Given the description of an element on the screen output the (x, y) to click on. 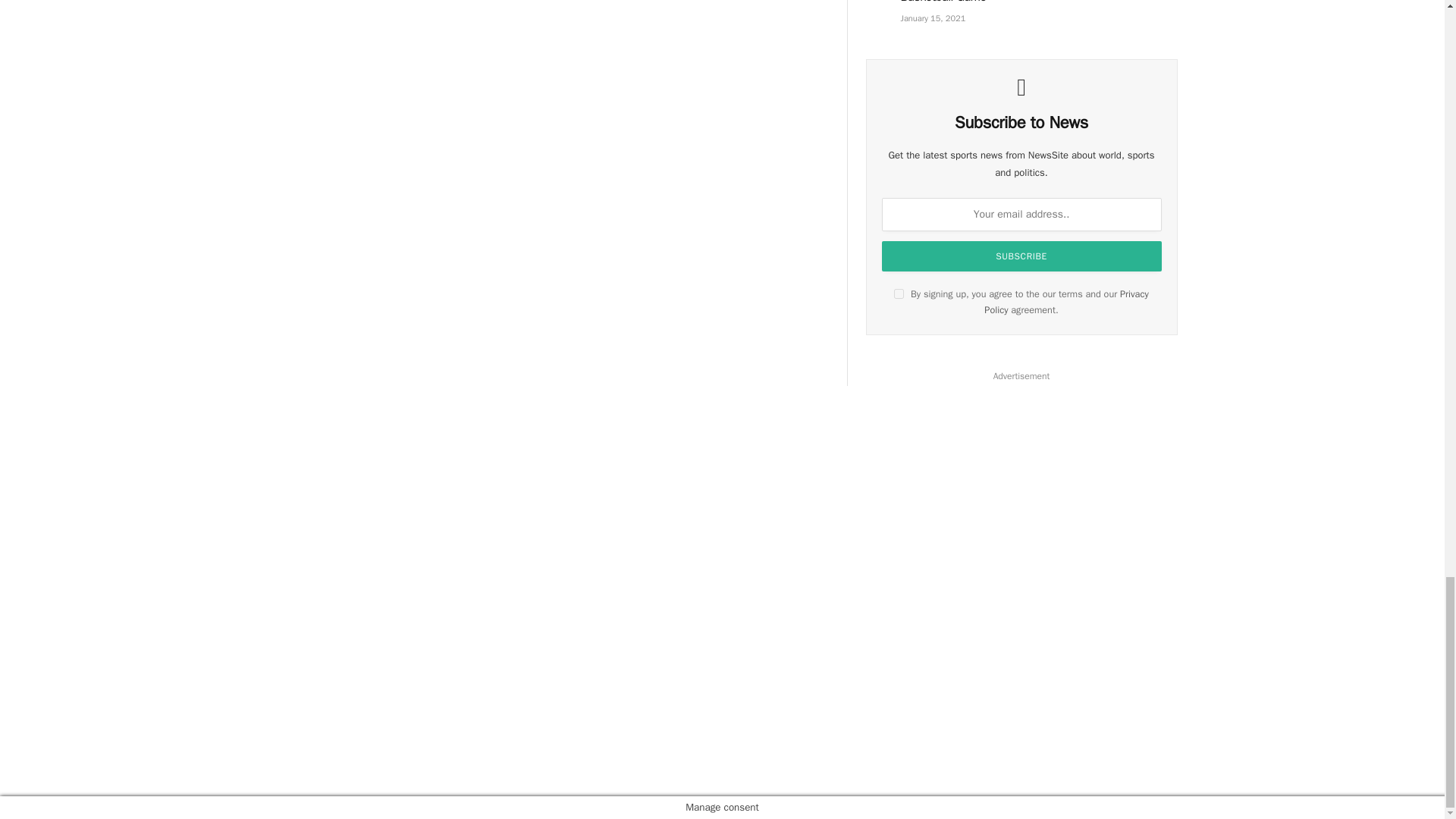
Subscribe (1021, 255)
on (898, 293)
